Given the description of an element on the screen output the (x, y) to click on. 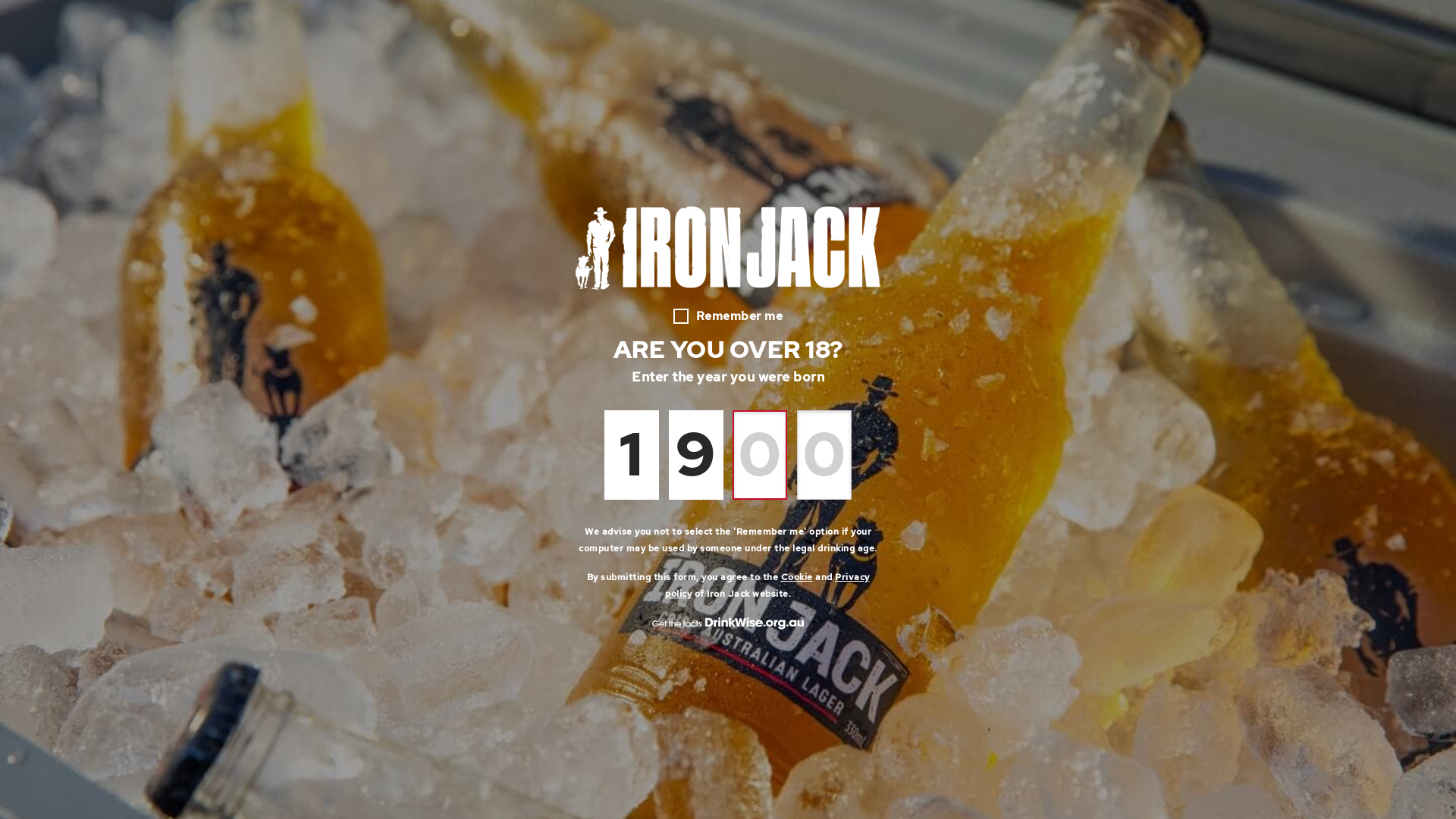
Cookie Element type: text (796, 577)
Privacy policy Element type: text (767, 585)
